Given the description of an element on the screen output the (x, y) to click on. 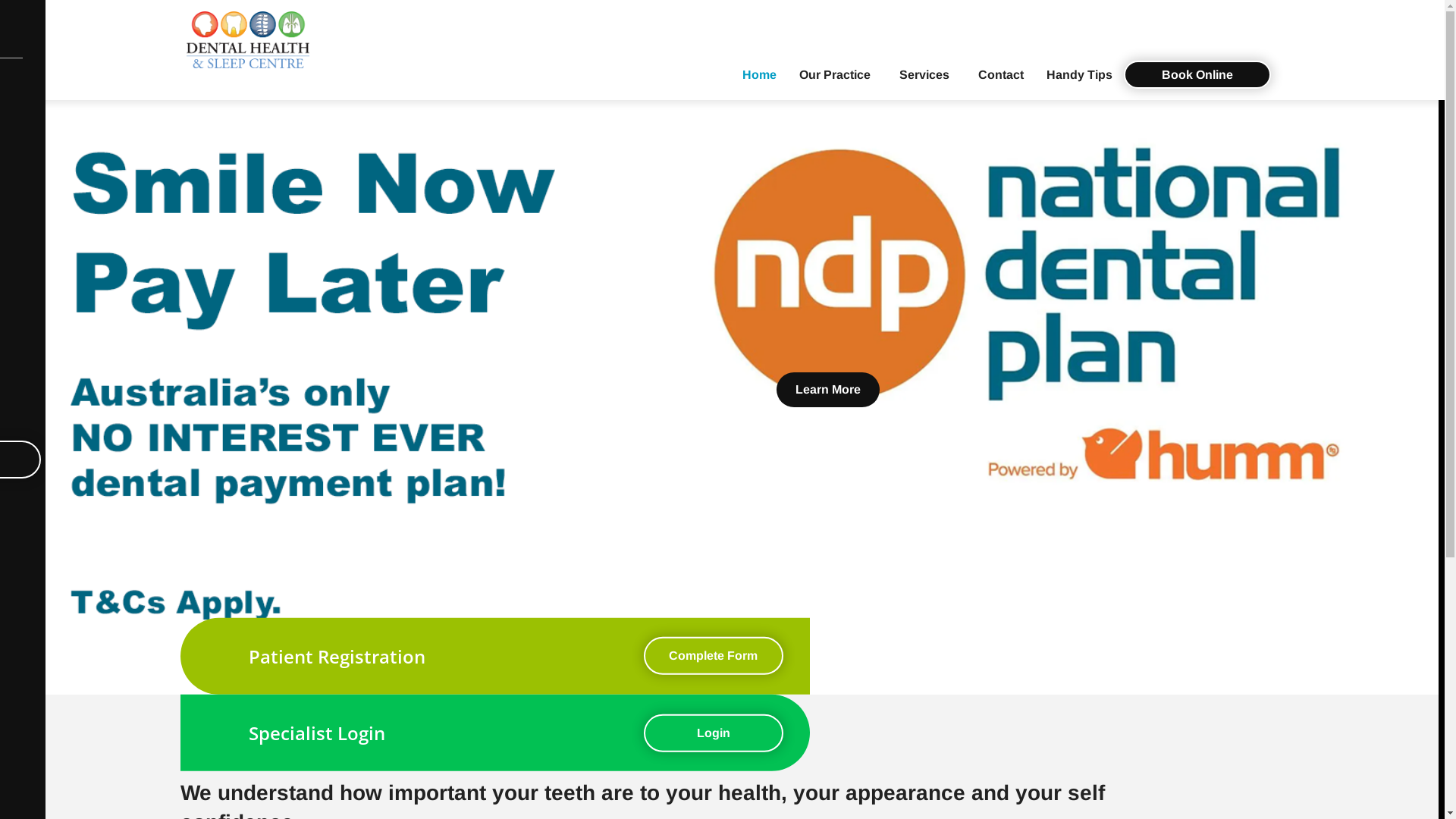
Handy Tips Element type: text (1078, 74)
Login Element type: text (712, 732)
Home Element type: text (759, 74)
Contact Element type: text (1000, 74)
Our Practice Element type: text (837, 74)
Services Element type: text (926, 74)
Learn More Element type: text (827, 389)
Book Online Element type: text (1196, 74)
Complete Form Element type: text (712, 655)
